Given the description of an element on the screen output the (x, y) to click on. 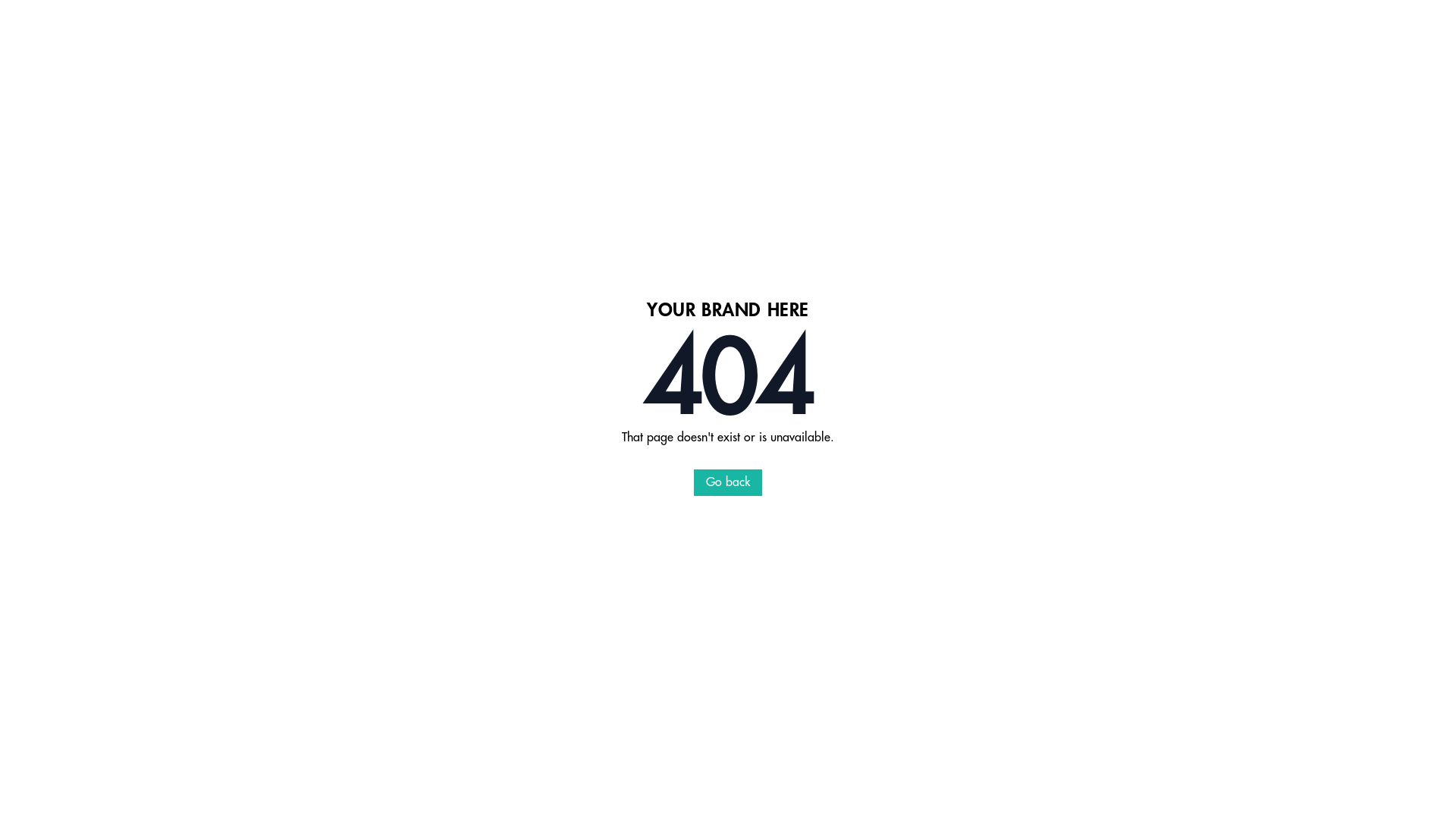
Go back Element type: text (727, 482)
